Given the description of an element on the screen output the (x, y) to click on. 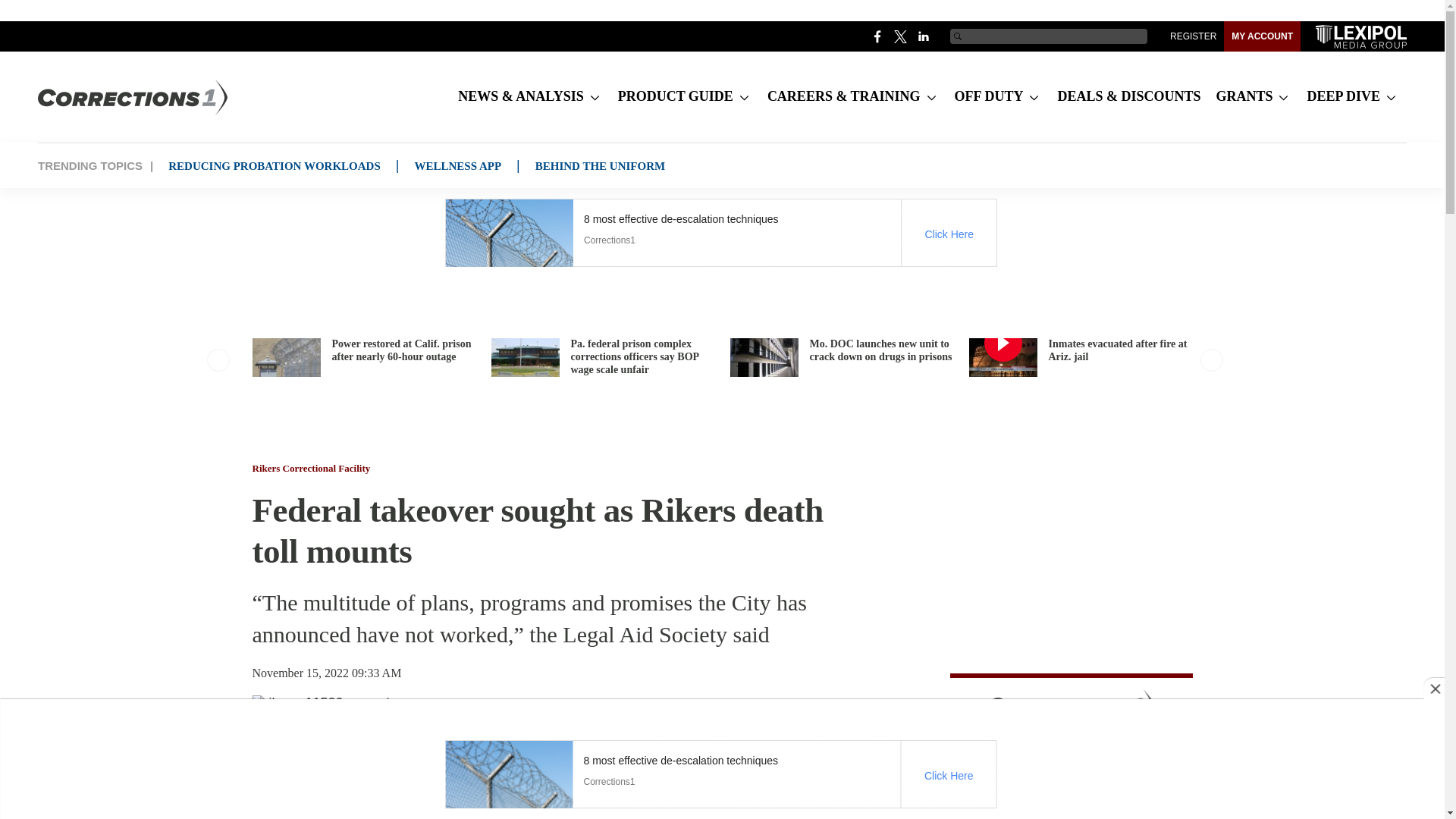
REGISTER (1192, 36)
3rd party ad content (719, 774)
3rd party ad content (719, 232)
MY ACCOUNT (1262, 36)
linkedin (923, 36)
twitter (900, 36)
facebook (877, 36)
3rd party ad content (1068, 567)
piano-id-sjPt0 (1070, 746)
